Given the description of an element on the screen output the (x, y) to click on. 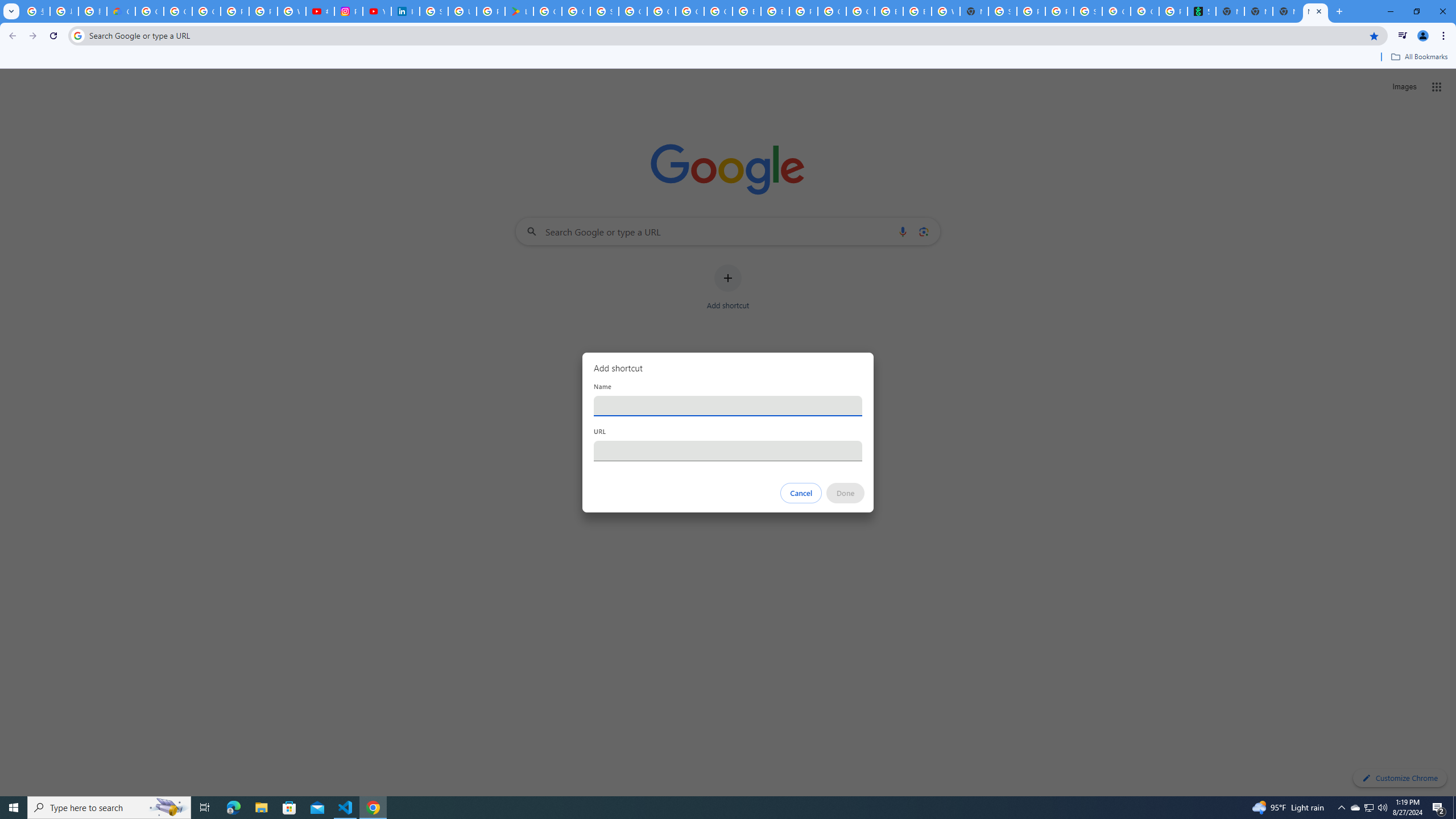
Sign in - Google Accounts (604, 11)
Last Shelter: Survival - Apps on Google Play (518, 11)
New Tab (1258, 11)
Google Cloud Platform (661, 11)
Cancel (801, 493)
